Given the description of an element on the screen output the (x, y) to click on. 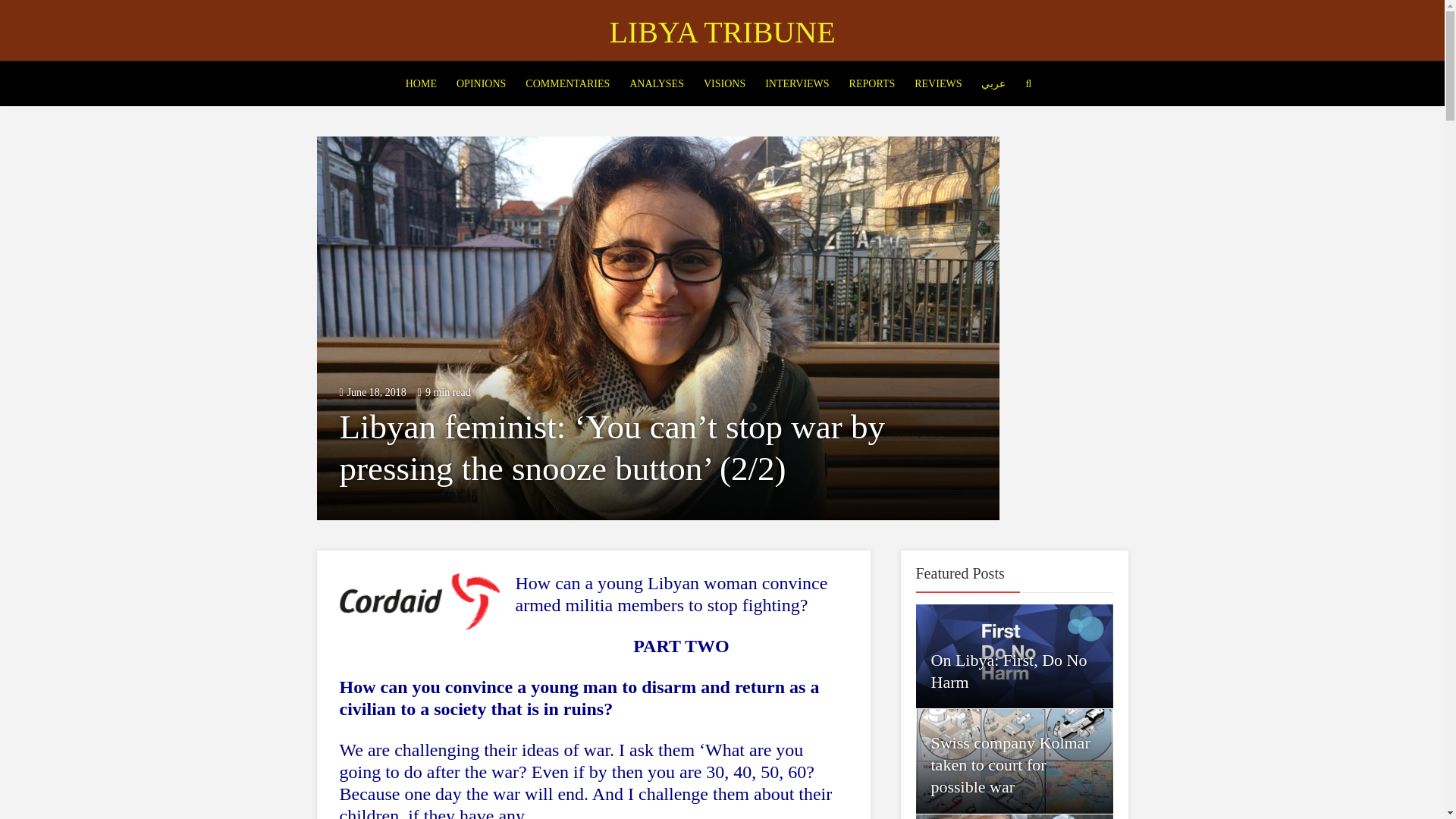
REPORTS (872, 84)
OPINIONS (481, 84)
REVIEWS (937, 84)
VISIONS (724, 84)
COMMENTARIES (566, 84)
INTERVIEWS (796, 84)
ANALYSES (656, 84)
Libya Tribune (721, 32)
HOME (421, 84)
LIBYA TRIBUNE (721, 32)
On Libya: First, Do No Harm (1009, 670)
